Given the description of an element on the screen output the (x, y) to click on. 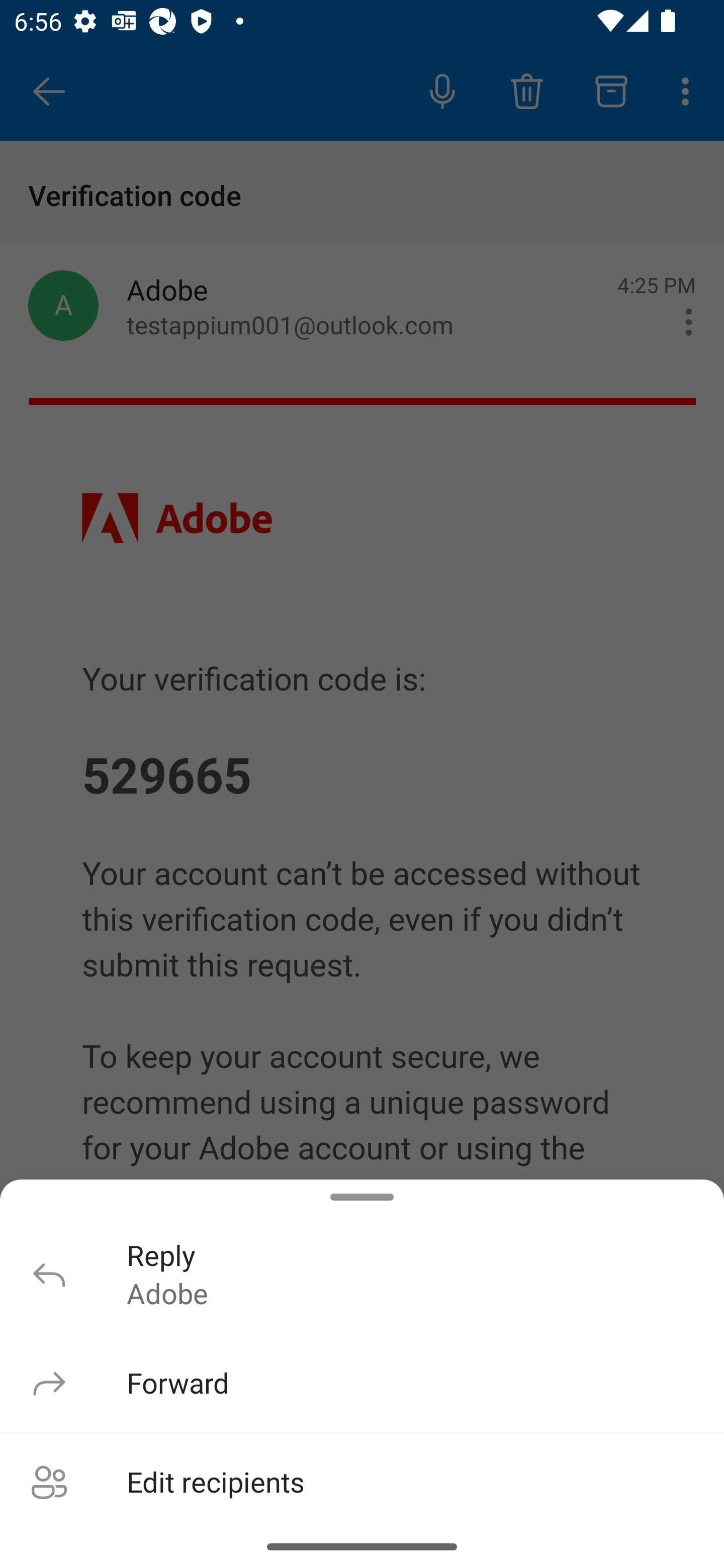
Reply Reply Adobe Adobe   (362, 1273)
Forward (362, 1381)
Edit recipients (362, 1478)
